Given the description of an element on the screen output the (x, y) to click on. 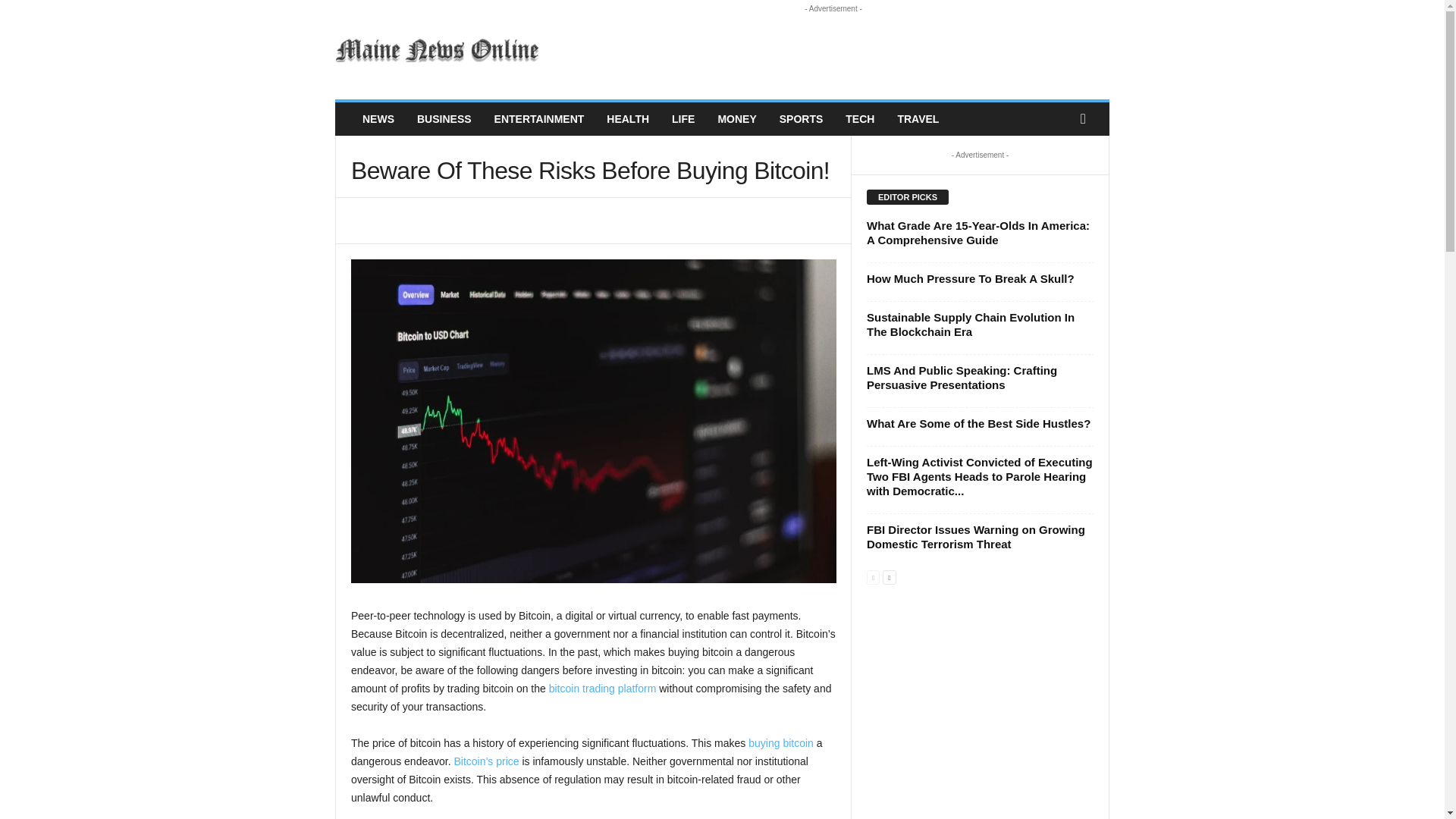
NEWS (378, 118)
ENTERTAINMENT (539, 118)
bitcoin trading platform (602, 688)
HEALTH (628, 118)
MONEY (736, 118)
LIFE (683, 118)
BUSINESS (444, 118)
buying bitcoin (780, 743)
TECH (859, 118)
TRAVEL (917, 118)
